Given the description of an element on the screen output the (x, y) to click on. 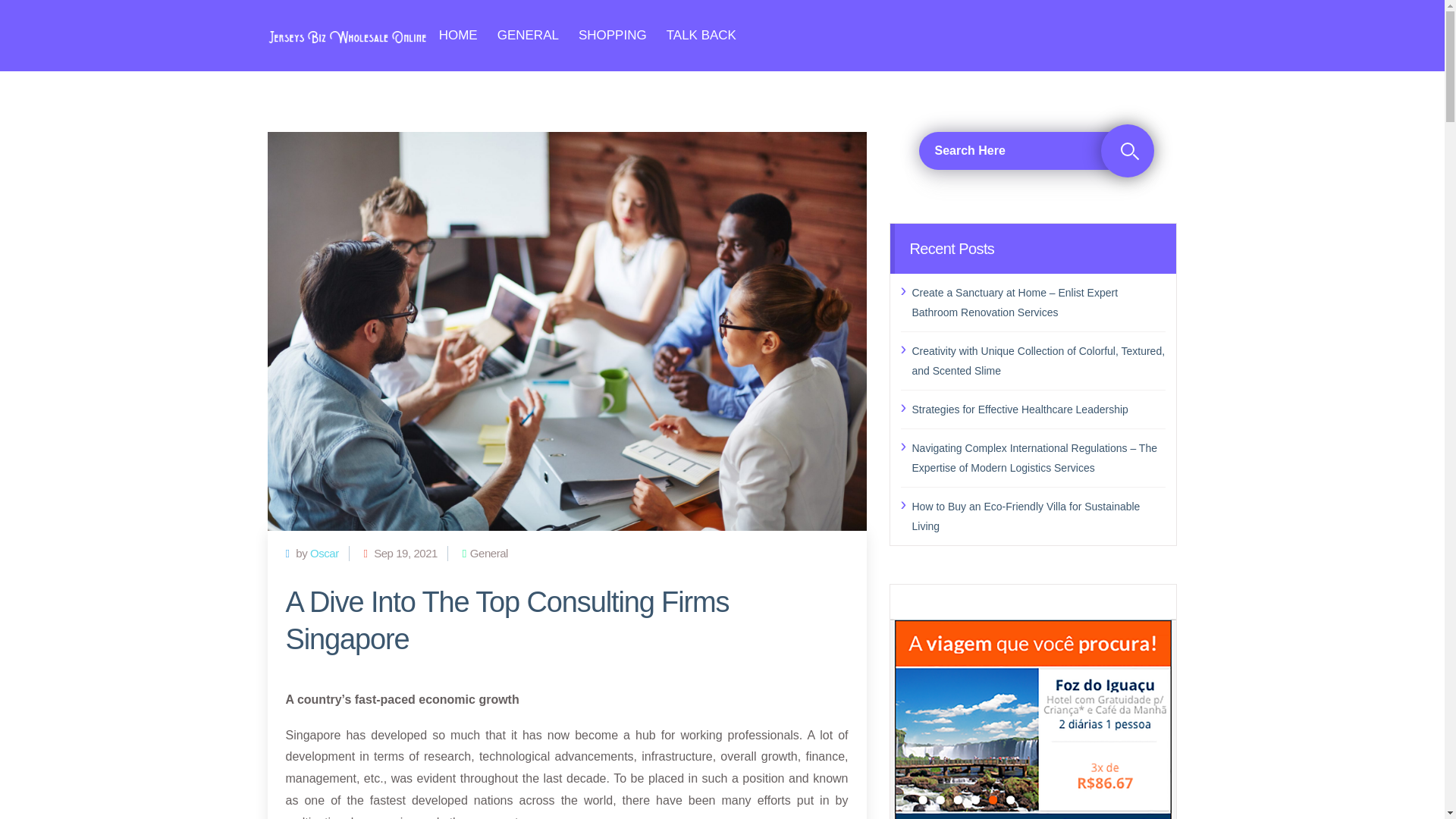
SHOPPING (612, 35)
How to Buy an Eco-Friendly Villa for Sustainable Living (1038, 515)
TALK BACK (701, 35)
Strategies for Effective Healthcare Leadership (1038, 408)
HOME (458, 35)
Oscar (324, 553)
GENERAL (528, 35)
